Given the description of an element on the screen output the (x, y) to click on. 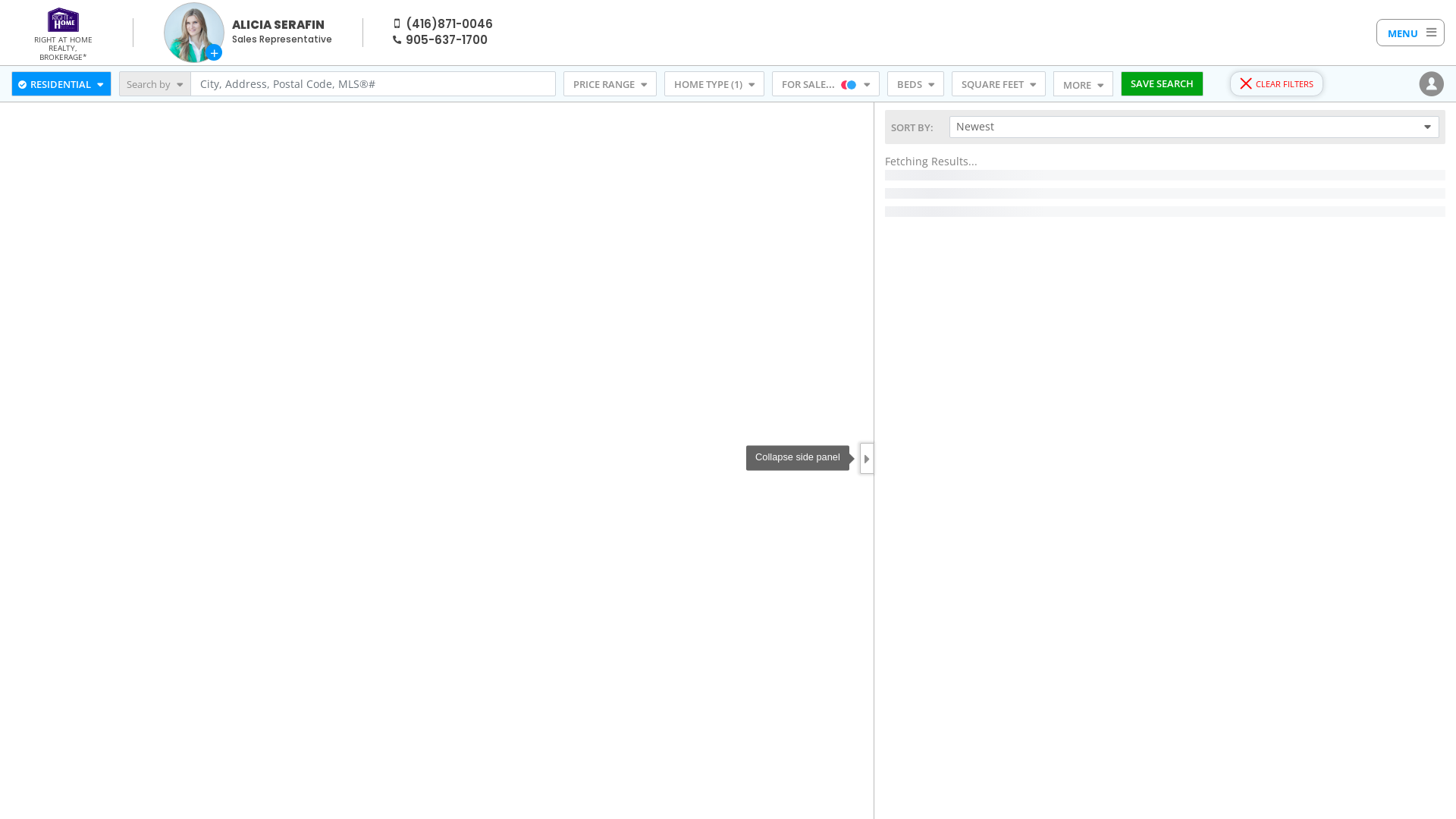
Sales Representative Element type: text (282, 38)
Search by Element type: text (155, 84)
CLEAR FILTERS Element type: text (1276, 84)
BEDS Element type: text (915, 84)
SAVE SEARCH Element type: text (1161, 84)
Newest Element type: text (1194, 127)
SQUARE FEET Element type: text (998, 84)
HOME TYPE (1) Element type: text (714, 84)
905-637-1700 Element type: text (446, 39)
MENU Element type: text (1410, 32)
FOR SALE... Element type: text (825, 84)
RESIDENTIAL Element type: text (61, 84)
PRICE RANGE Element type: text (609, 84)
ALICIA SERAFIN Element type: text (278, 24)
RIGHT AT HOME REALTY, BROKERAGE* Element type: text (62, 46)
(416)871-0046 Element type: text (448, 23)
